Given the description of an element on the screen output the (x, y) to click on. 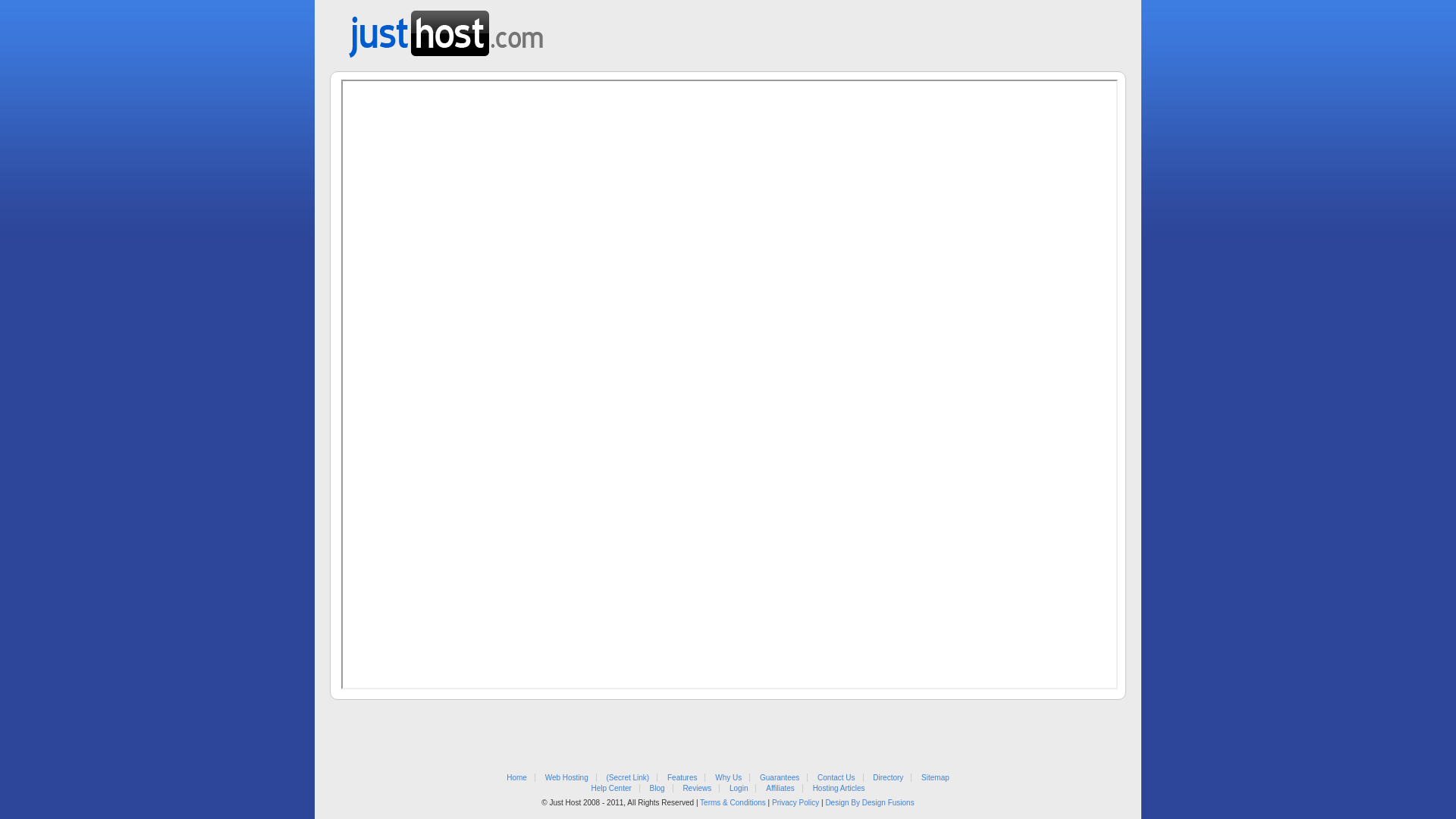
Home Element type: text (516, 777)
(Secret Link) Element type: text (627, 777)
Why Us Element type: text (728, 777)
Design By Design Fusions Element type: text (869, 802)
Hosting Articles Element type: text (838, 788)
Sitemap Element type: text (935, 777)
Affiliates Element type: text (779, 788)
Directory Element type: text (887, 777)
Contact Us Element type: text (835, 777)
Blog Element type: text (657, 788)
Reviews Element type: text (696, 788)
Guarantees Element type: text (779, 777)
Features Element type: text (681, 777)
Terms & Conditions Element type: text (732, 802)
Web Hosting Element type: text (566, 777)
Login Element type: text (738, 788)
Help Center Element type: text (610, 788)
Privacy Policy Element type: text (795, 802)
Web Hosting from Just Host Element type: text (445, 28)
